Given the description of an element on the screen output the (x, y) to click on. 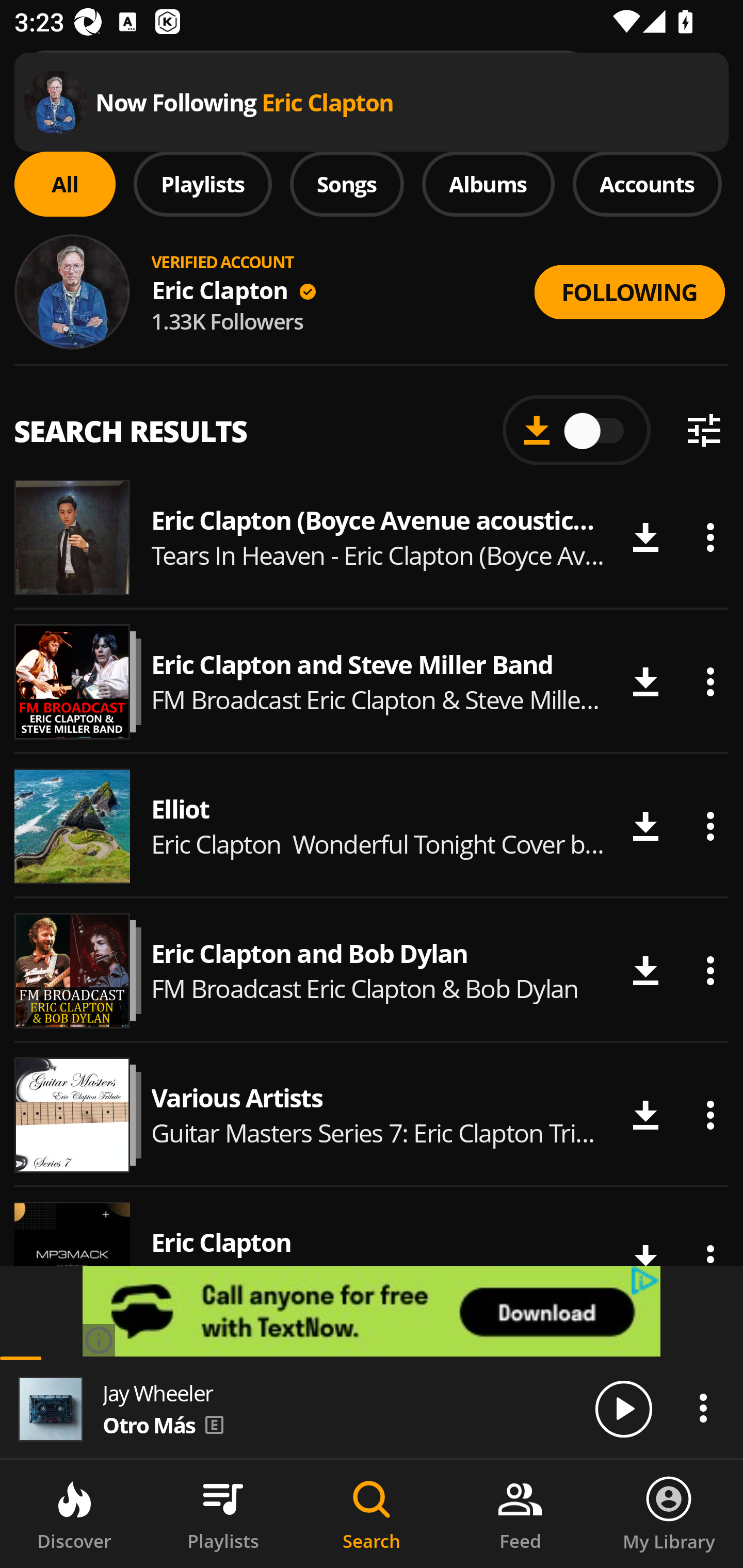
Eric Clapton Cancel (371, 82)
Cancel (670, 82)
Toast image (54, 102)
All (64, 184)
Playlists (202, 184)
Songs (346, 184)
Albums (488, 184)
Accounts (647, 184)
FOLLOWING Follow/Unfollow (629, 291)
Download (644, 536)
Actions (710, 536)
Download (644, 682)
Actions (710, 682)
Download (644, 826)
Actions (710, 826)
Download (644, 970)
Actions (710, 970)
Download (644, 1114)
Actions (710, 1114)
lrs4ozzi_yabxnjh_uresqf87ztinkg7v (371, 1311)
privacy (645, 1280)
Actions (703, 1407)
Play/Pause (623, 1408)
Discover (74, 1513)
Playlists (222, 1513)
Search (371, 1513)
Feed (519, 1513)
My Library (668, 1513)
